Given the description of an element on the screen output the (x, y) to click on. 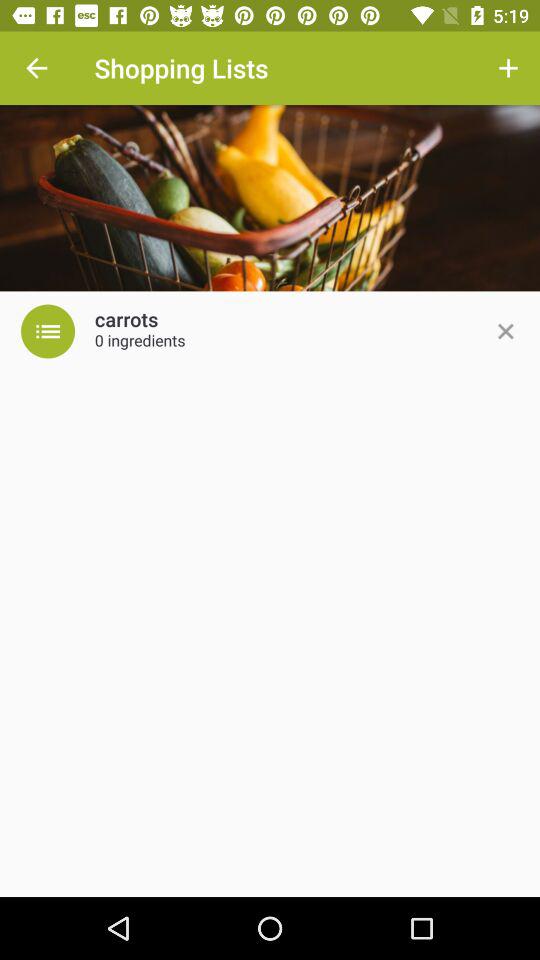
turn off the icon to the left of the shopping lists item (36, 68)
